Given the description of an element on the screen output the (x, y) to click on. 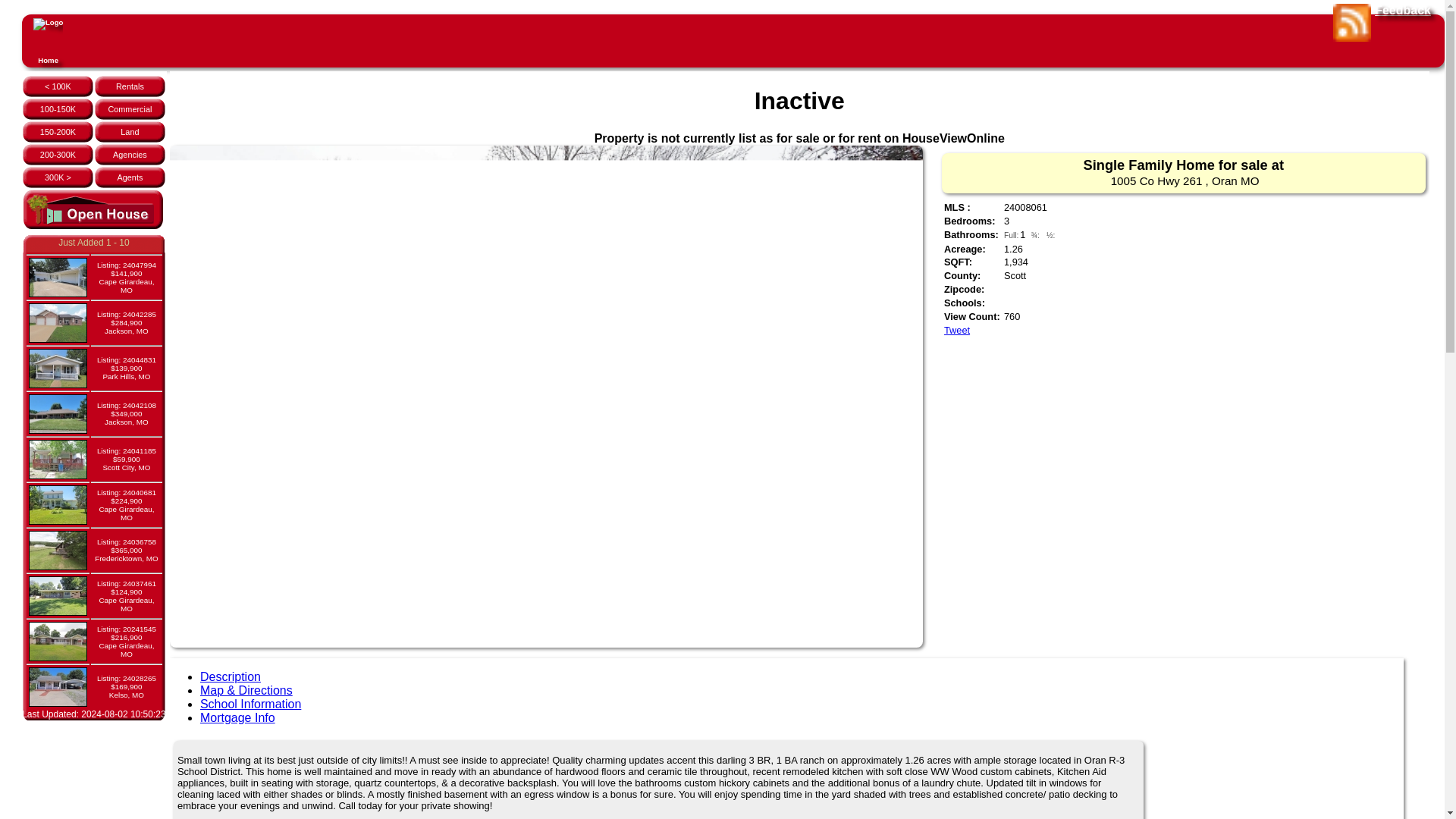
100-150K (57, 108)
Agencies (130, 153)
Commercial (129, 108)
200-300K (57, 153)
Click to View Current Open house Listings! (93, 226)
Description (230, 676)
Mortgage Info (237, 717)
Click To View Listing in Jackson MO (126, 322)
Openhouse Listings in Southeast Missouri (93, 211)
Agents (129, 176)
Land (129, 131)
Rentals (130, 85)
Real Estate Agencies (130, 153)
Tweet (956, 329)
Click To View Listing in Cape Girardeau MO (126, 277)
